Given the description of an element on the screen output the (x, y) to click on. 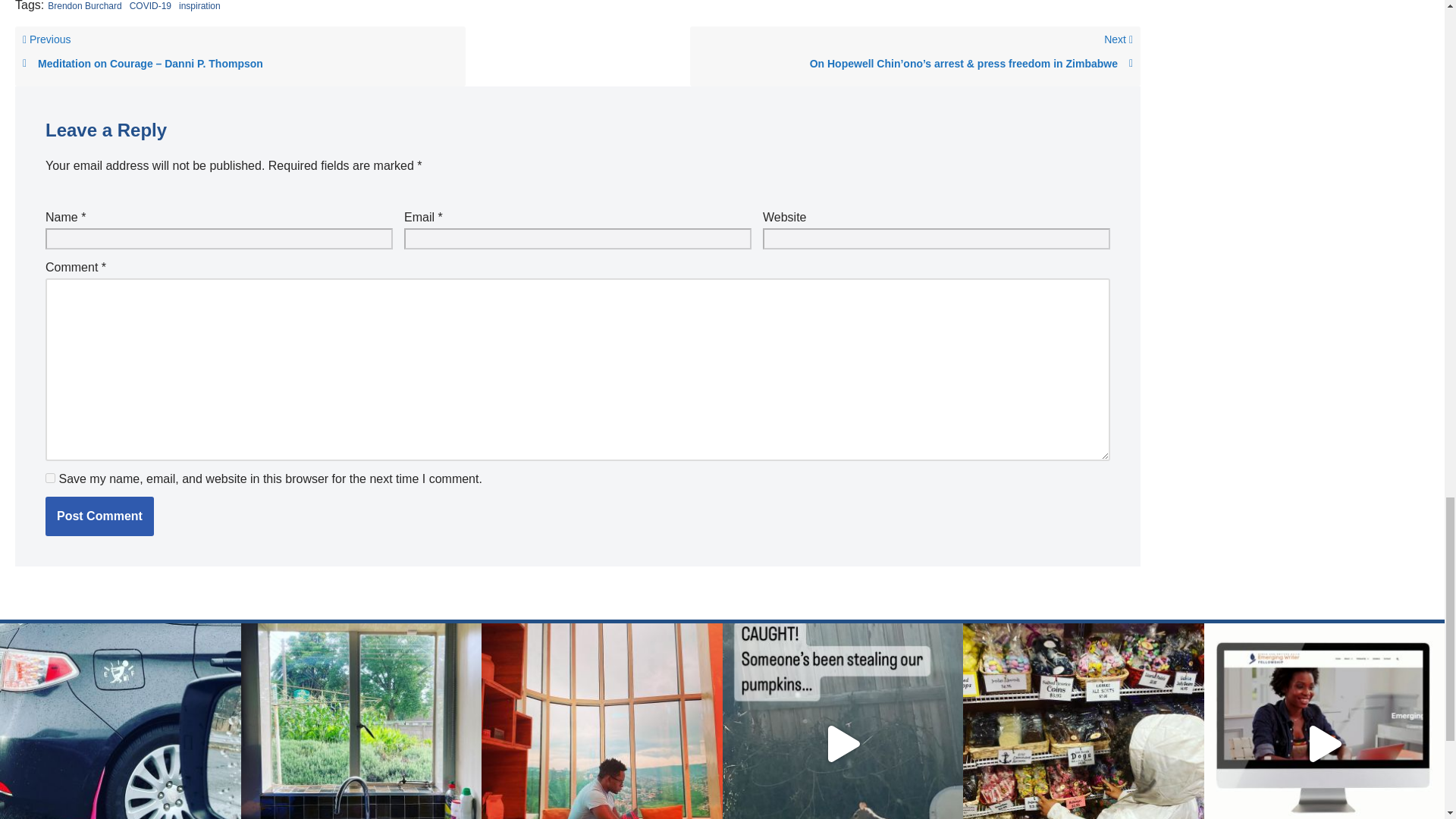
yes (50, 478)
Post Comment (99, 516)
